Given the description of an element on the screen output the (x, y) to click on. 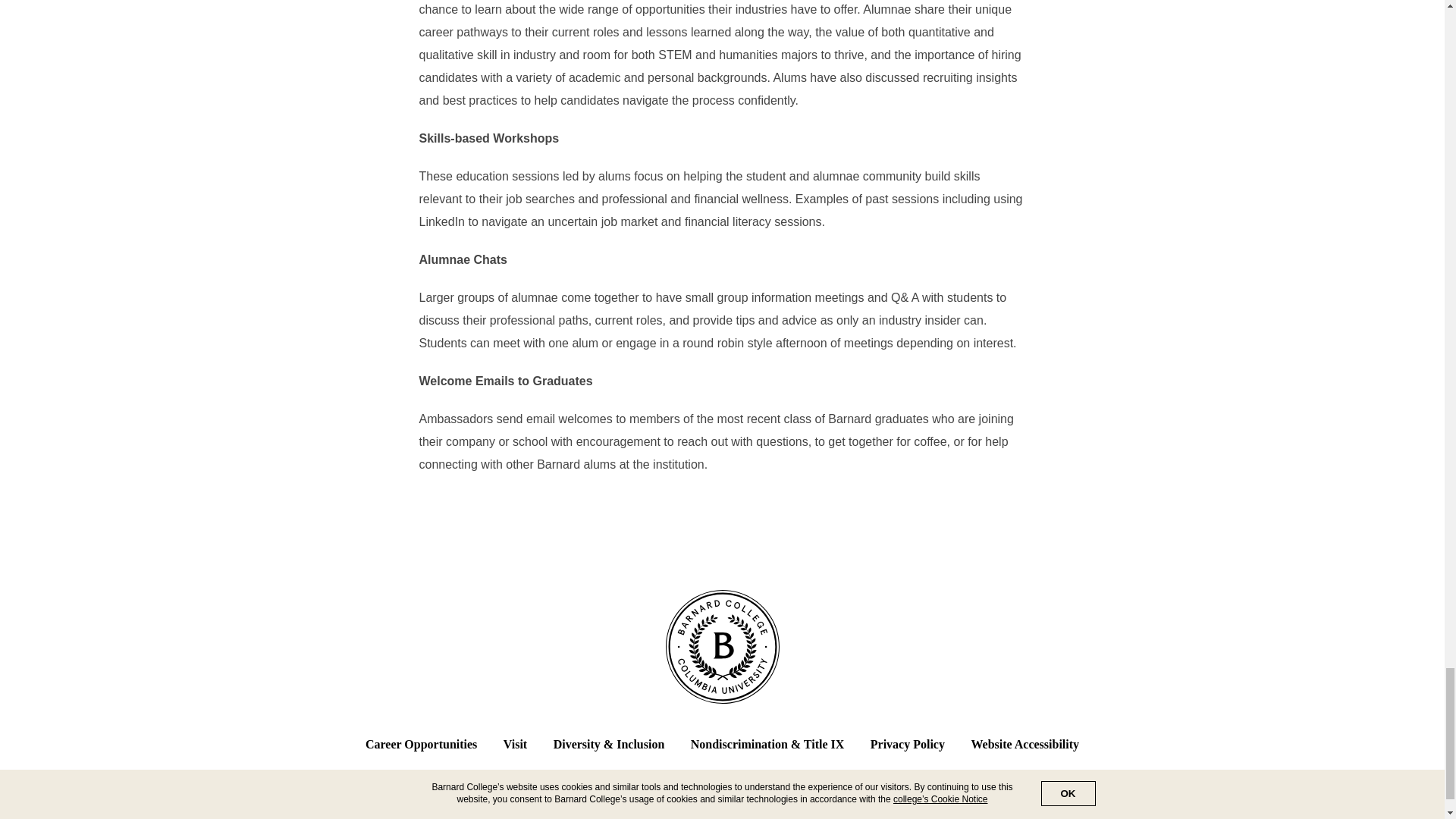
Privacy Policy (907, 744)
